Given the description of an element on the screen output the (x, y) to click on. 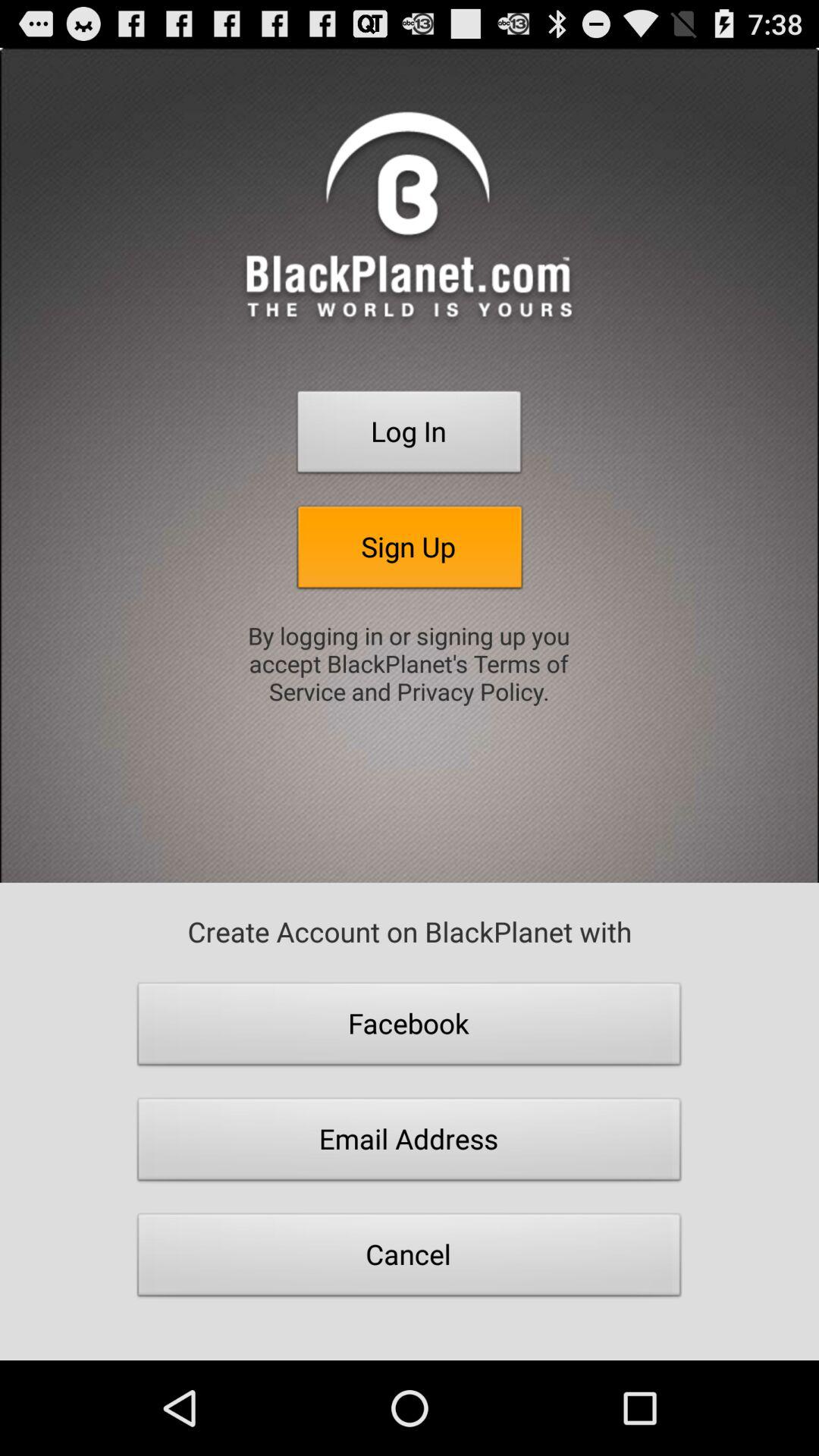
select button below the log in icon (409, 551)
